Given the description of an element on the screen output the (x, y) to click on. 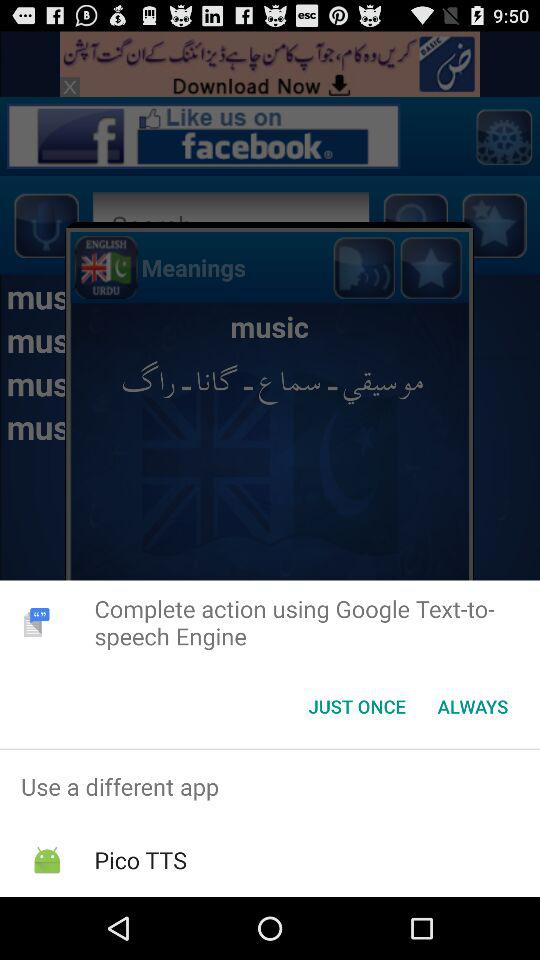
launch the item next to always button (356, 706)
